Given the description of an element on the screen output the (x, y) to click on. 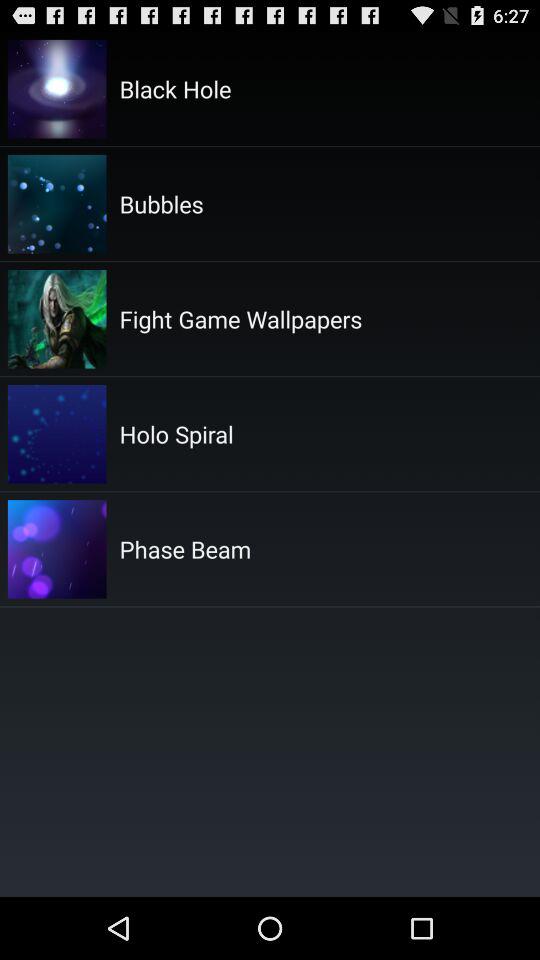
scroll to bubbles app (161, 203)
